Given the description of an element on the screen output the (x, y) to click on. 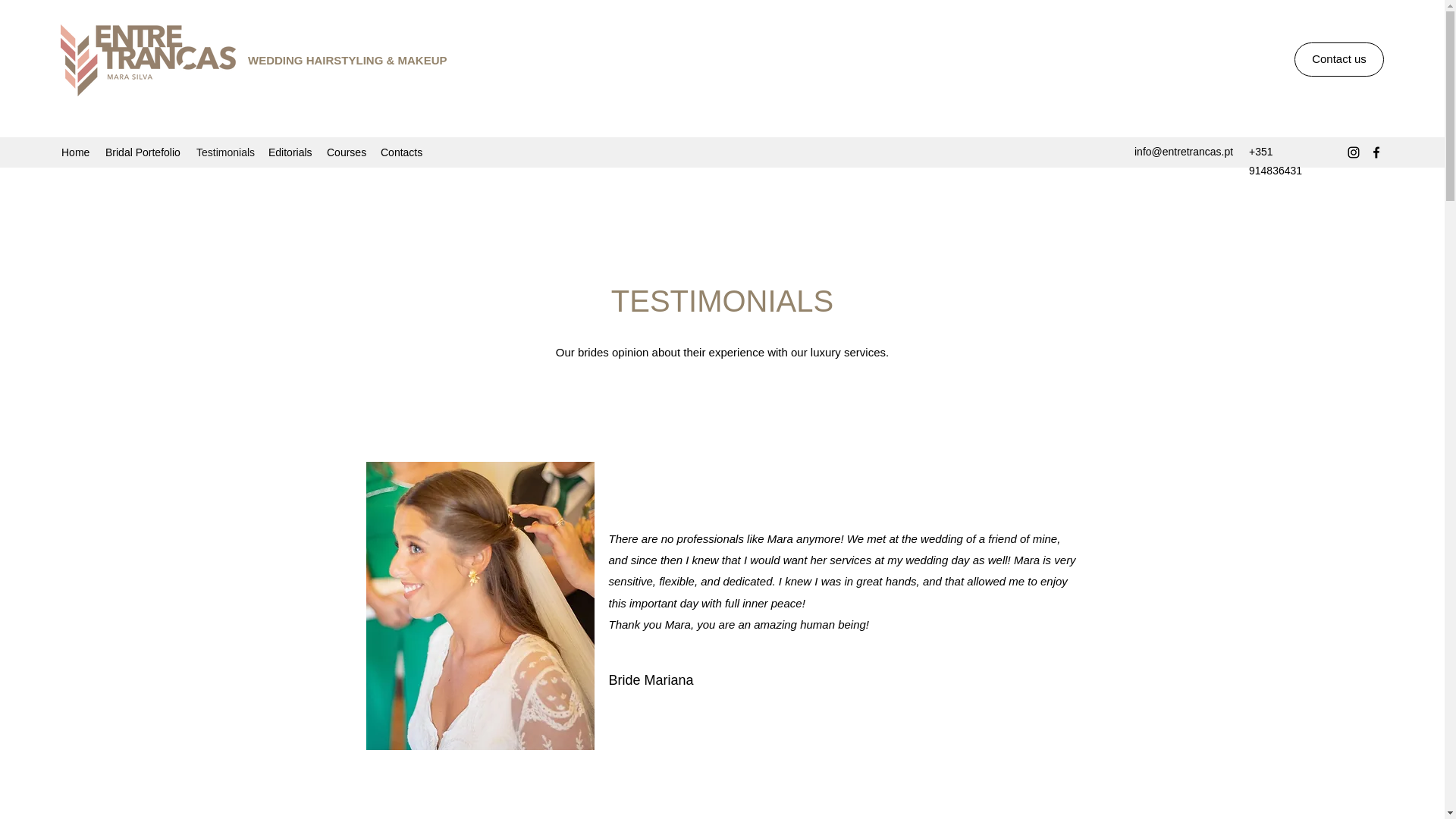
Editorials (289, 151)
Courses (345, 151)
Testimonials (224, 151)
Home (75, 151)
Contact us (1339, 59)
Bridal Portefolio (143, 151)
Contacts (401, 151)
